Given the description of an element on the screen output the (x, y) to click on. 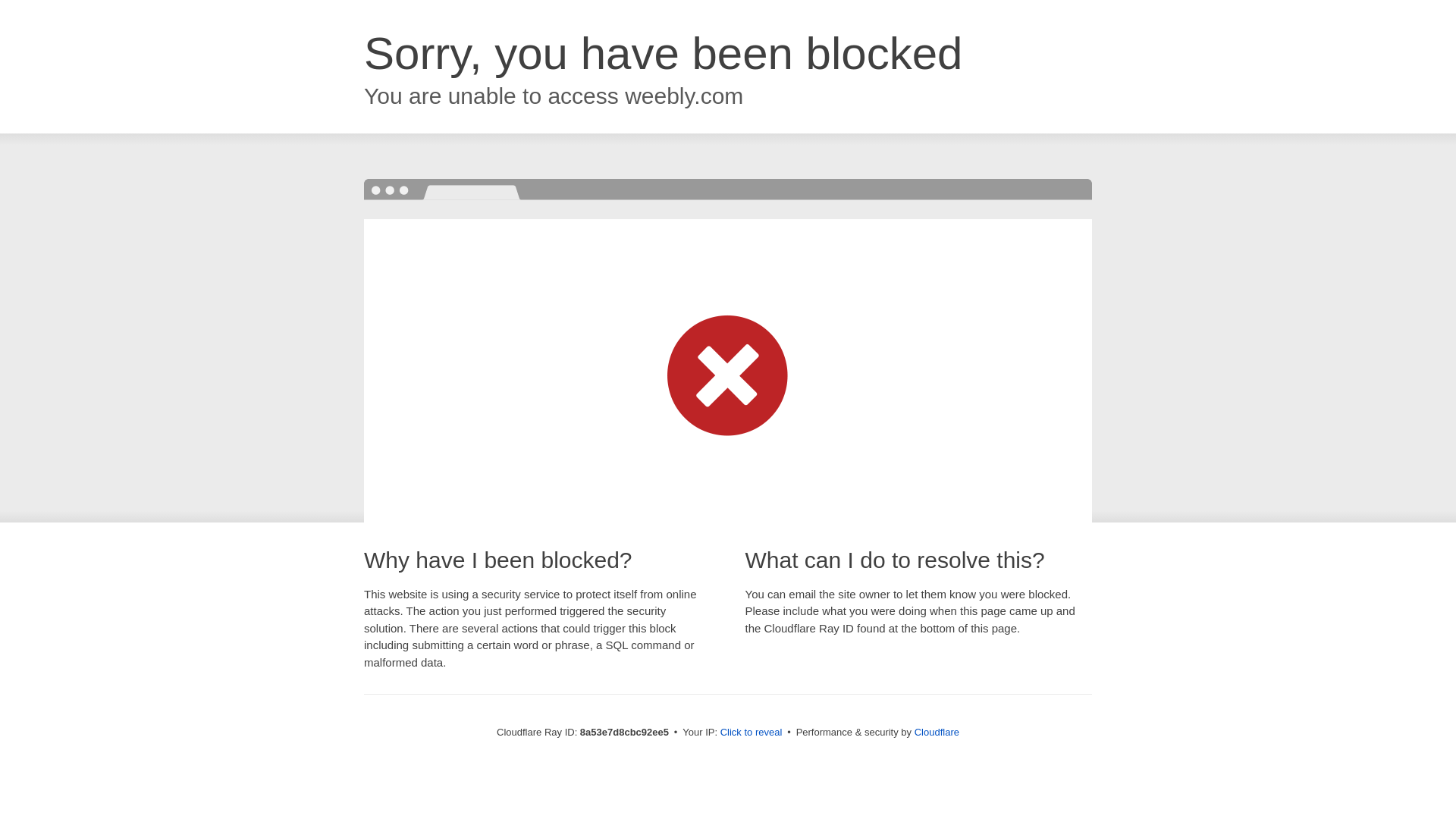
Click to reveal (751, 732)
Cloudflare (936, 731)
